Given the description of an element on the screen output the (x, y) to click on. 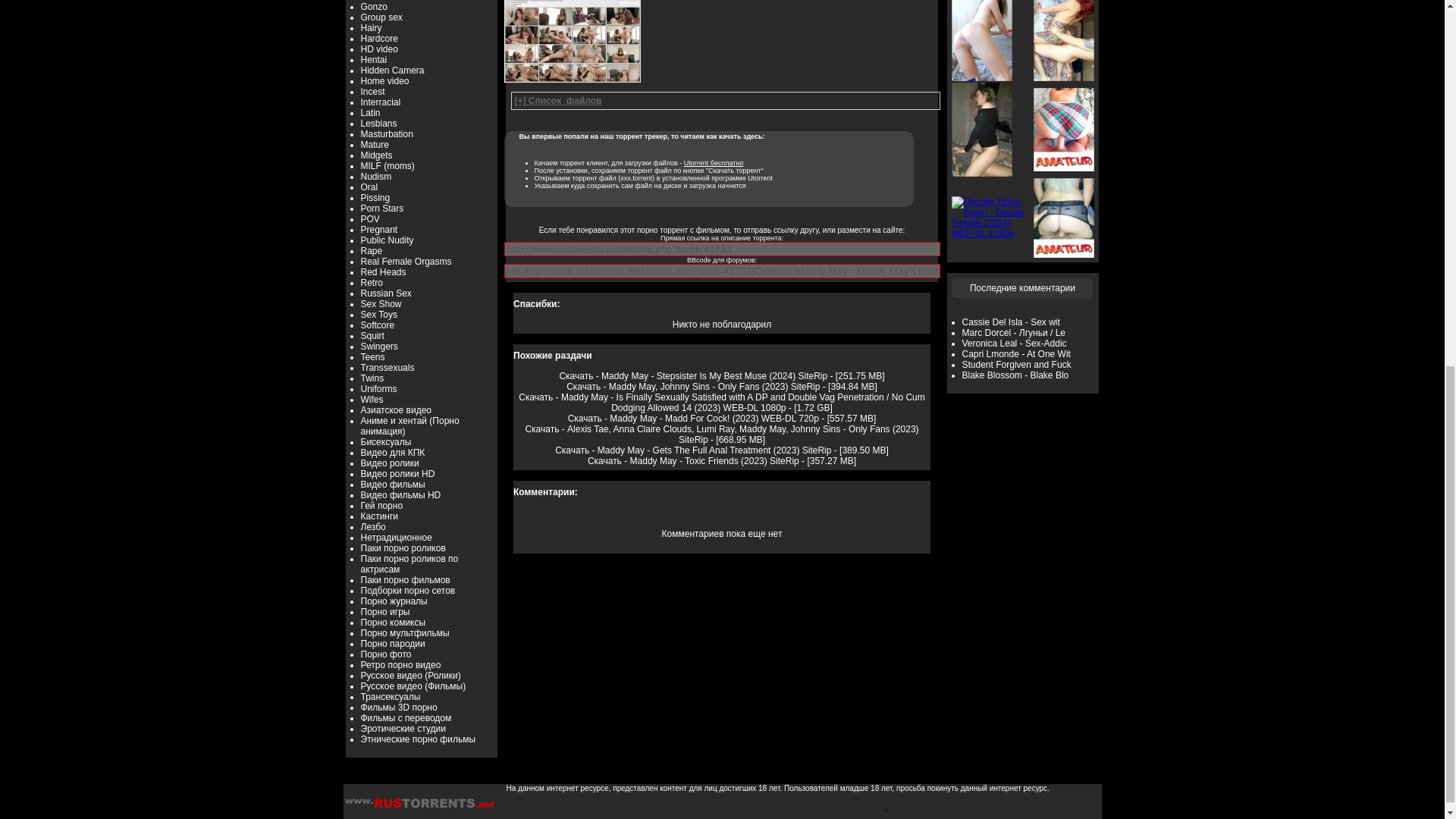
Glamour (378, 0)
HD video (379, 49)
Gonzo (374, 6)
Group sex (382, 17)
Hardcore (379, 38)
Hairy (371, 27)
